Given the description of an element on the screen output the (x, y) to click on. 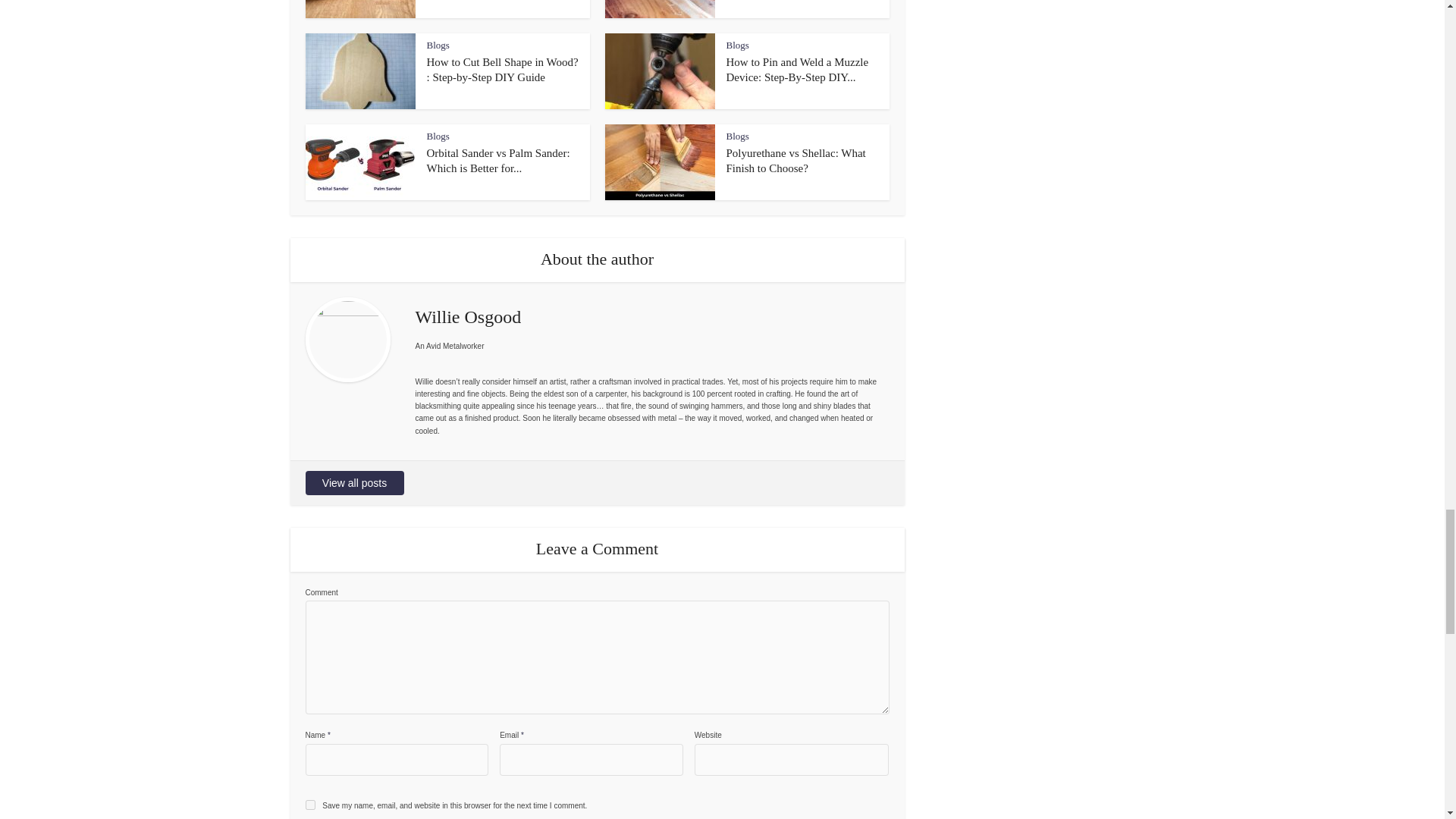
How to Pin and Weld a Muzzle Device: Step-By-Step DIY Guide (797, 69)
How to Cut Bell Shape in Wood? : Step-by-Step DIY Guide (502, 69)
Polyurethane vs Shellac: What Finish to Choose? (796, 160)
yes (309, 804)
